Given the description of an element on the screen output the (x, y) to click on. 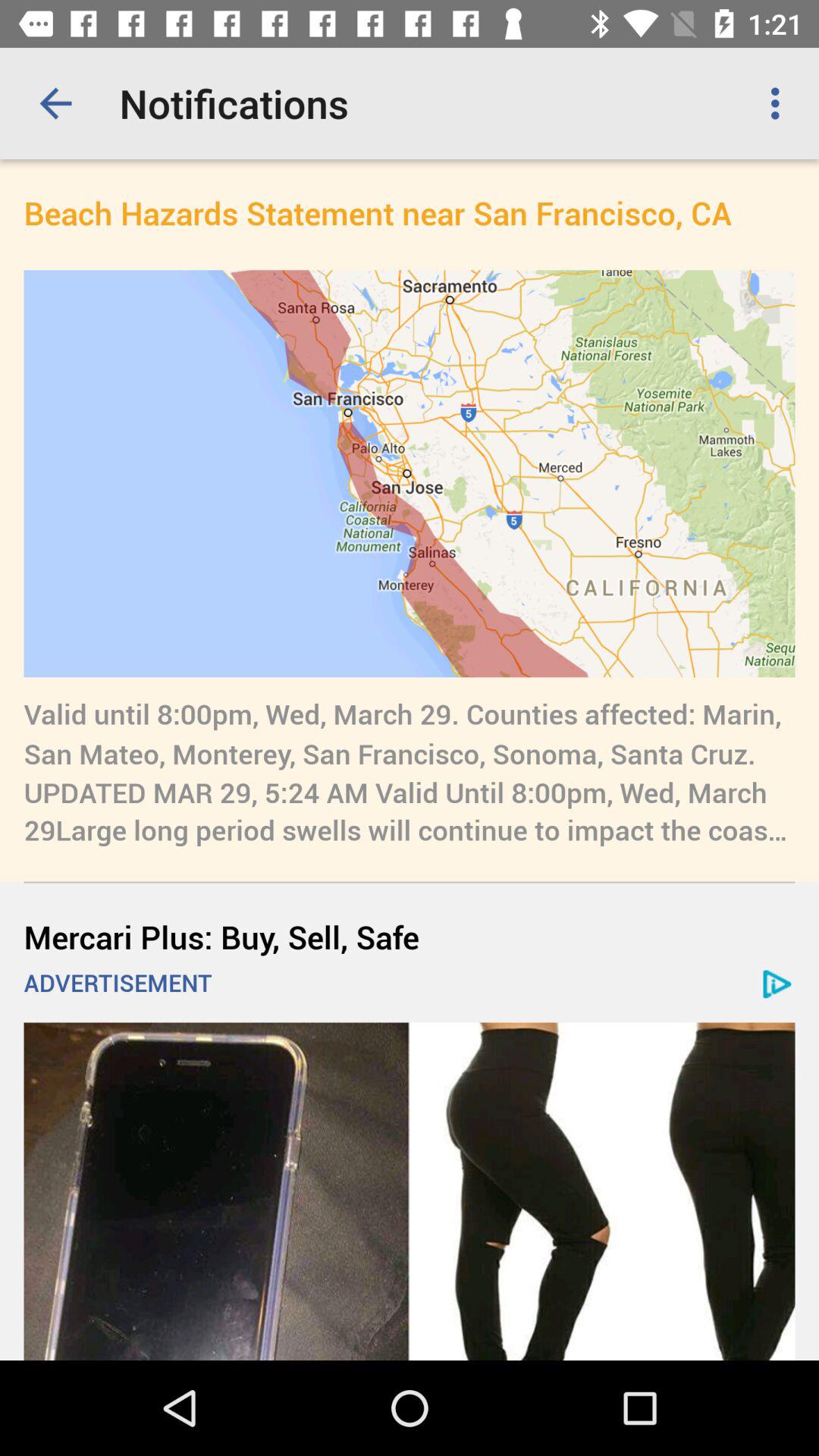
launch the mercari plus buy icon (409, 936)
